Given the description of an element on the screen output the (x, y) to click on. 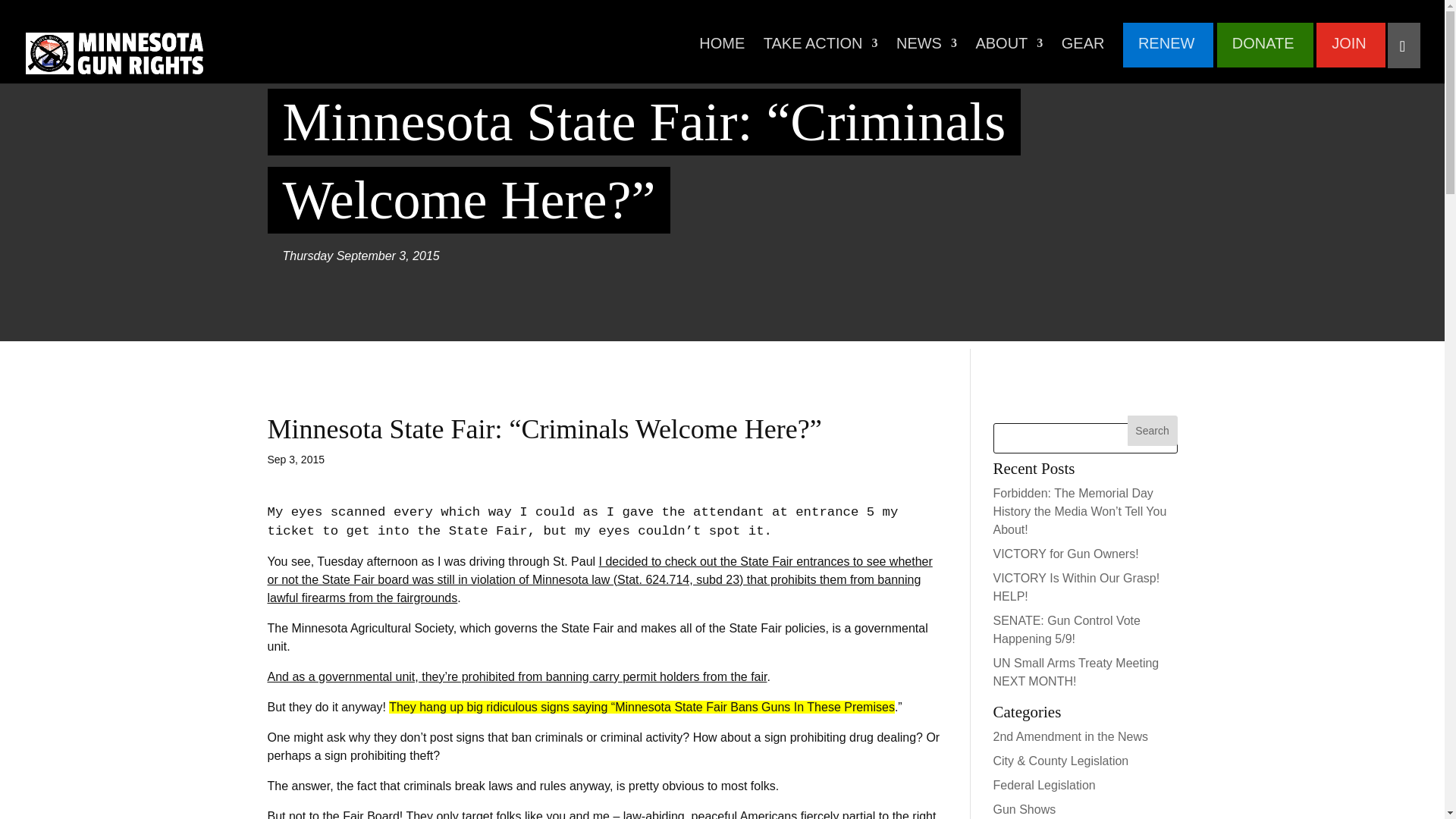
RENEW (1165, 52)
Search (1151, 430)
Federal Legislation (1044, 784)
VICTORY for Gun Owners! (1065, 553)
DONATE (1262, 52)
ABOUT (1008, 52)
2nd Amendment in the News (1070, 736)
Search (1151, 430)
TAKE ACTION (819, 52)
JOIN (1349, 52)
NEWS (926, 52)
Gun Shows (1024, 809)
VICTORY Is Within Our Grasp! HELP! (1076, 586)
UN Small Arms Treaty Meeting NEXT MONTH! (1075, 671)
HOME (721, 52)
